Given the description of an element on the screen output the (x, y) to click on. 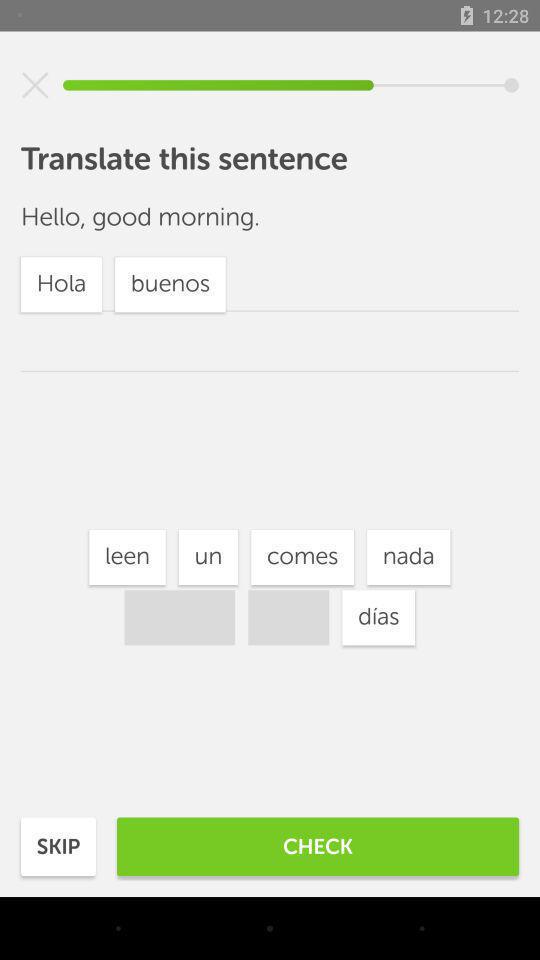
launch the item to the right of the leen (208, 557)
